Given the description of an element on the screen output the (x, y) to click on. 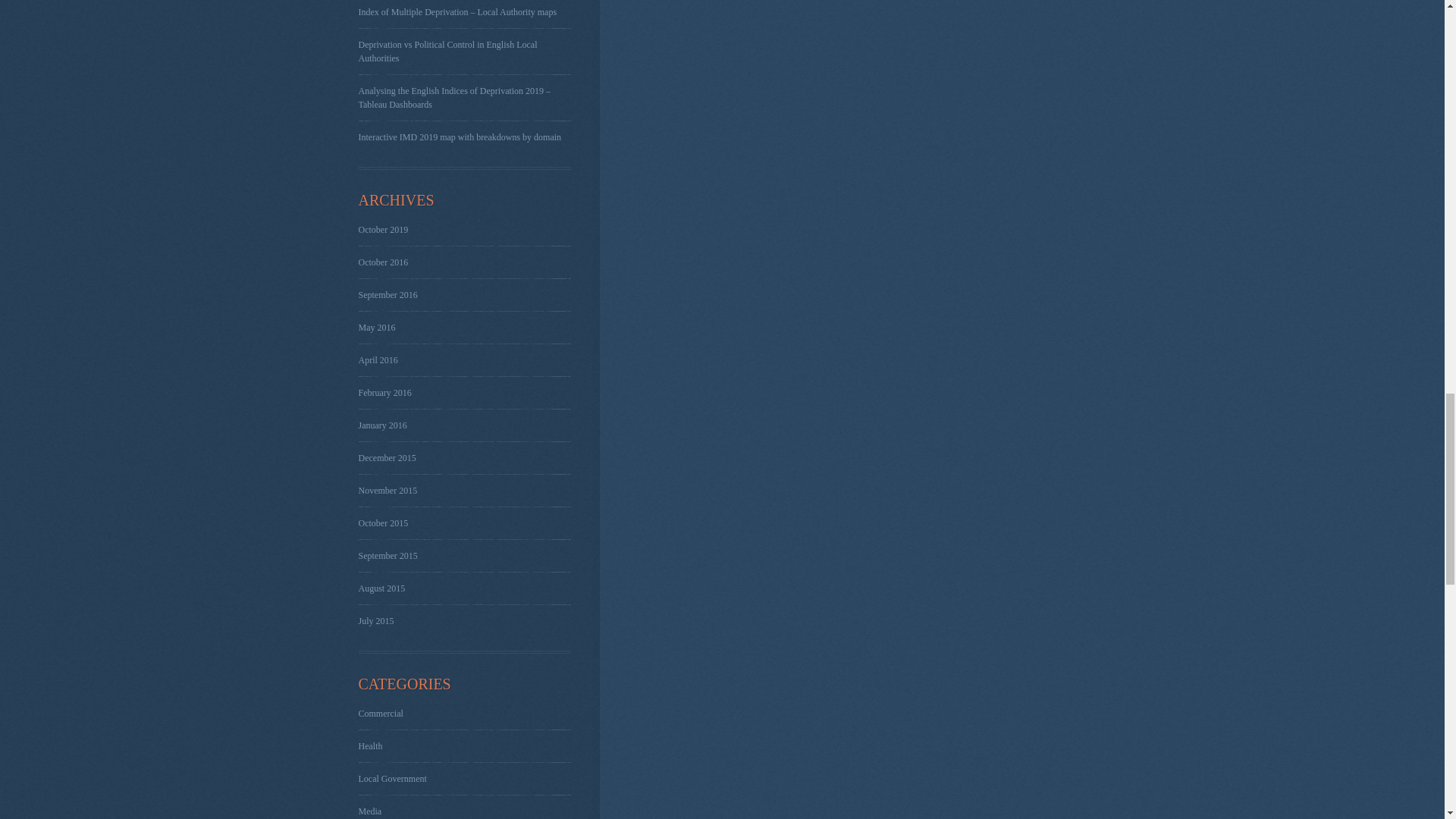
May 2016 (376, 327)
January 2016 (382, 425)
Health (369, 746)
October 2016 (382, 262)
Interactive IMD 2019 map with breakdowns by domain (459, 136)
August 2015 (381, 588)
February 2016 (384, 392)
September 2016 (387, 294)
December 2015 (386, 457)
Local Government (392, 778)
Commercial (380, 713)
September 2015 (387, 555)
October 2019 (382, 229)
April 2016 (377, 359)
